Given the description of an element on the screen output the (x, y) to click on. 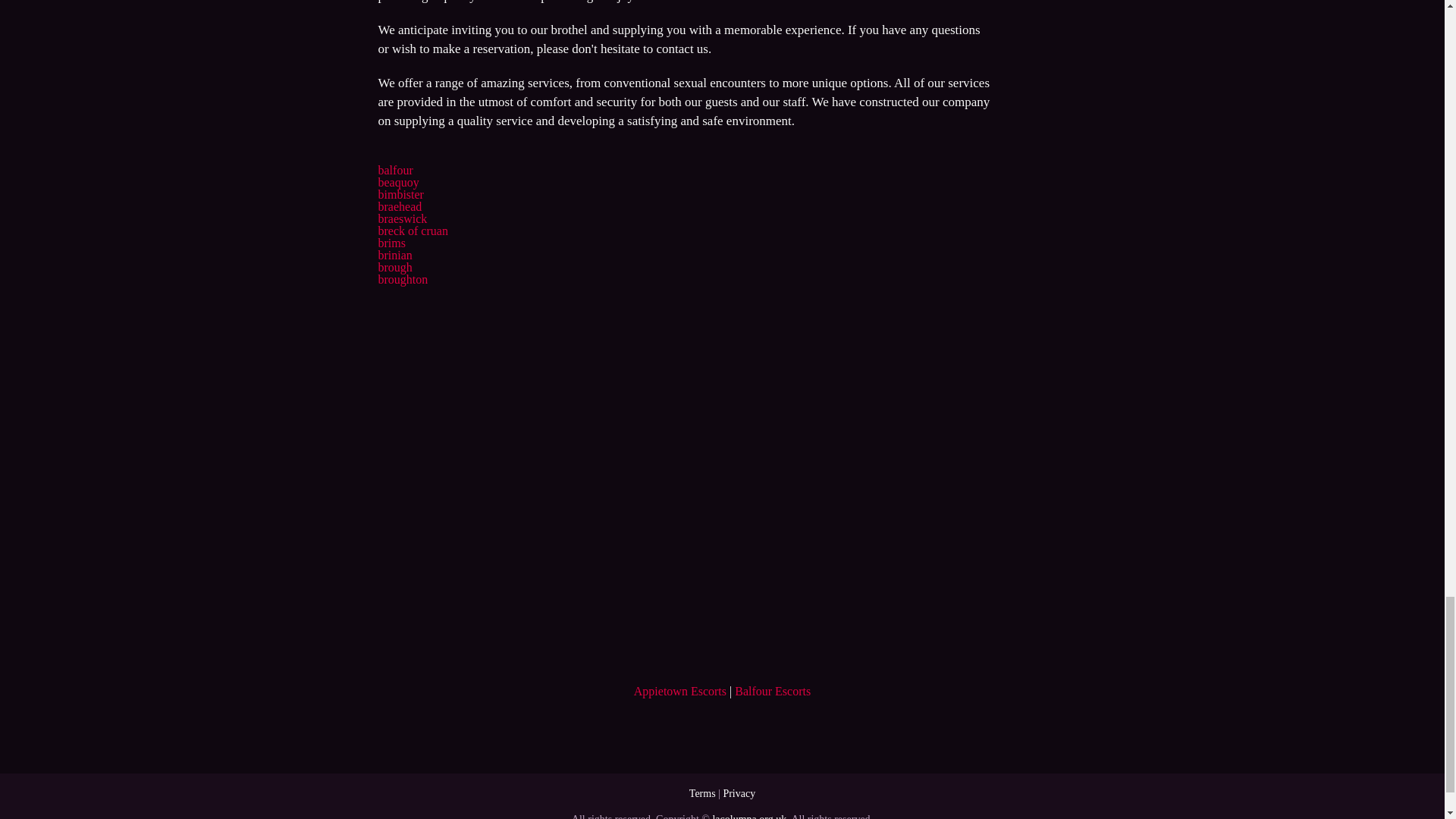
breck of cruan (411, 230)
brough (394, 267)
Balfour Escorts (772, 690)
Privacy (738, 793)
beaquoy (398, 182)
balfour (394, 169)
Appietown Escorts (679, 690)
braeswick (401, 218)
brims (390, 242)
lacolumna.org.uk (748, 816)
